Given the description of an element on the screen output the (x, y) to click on. 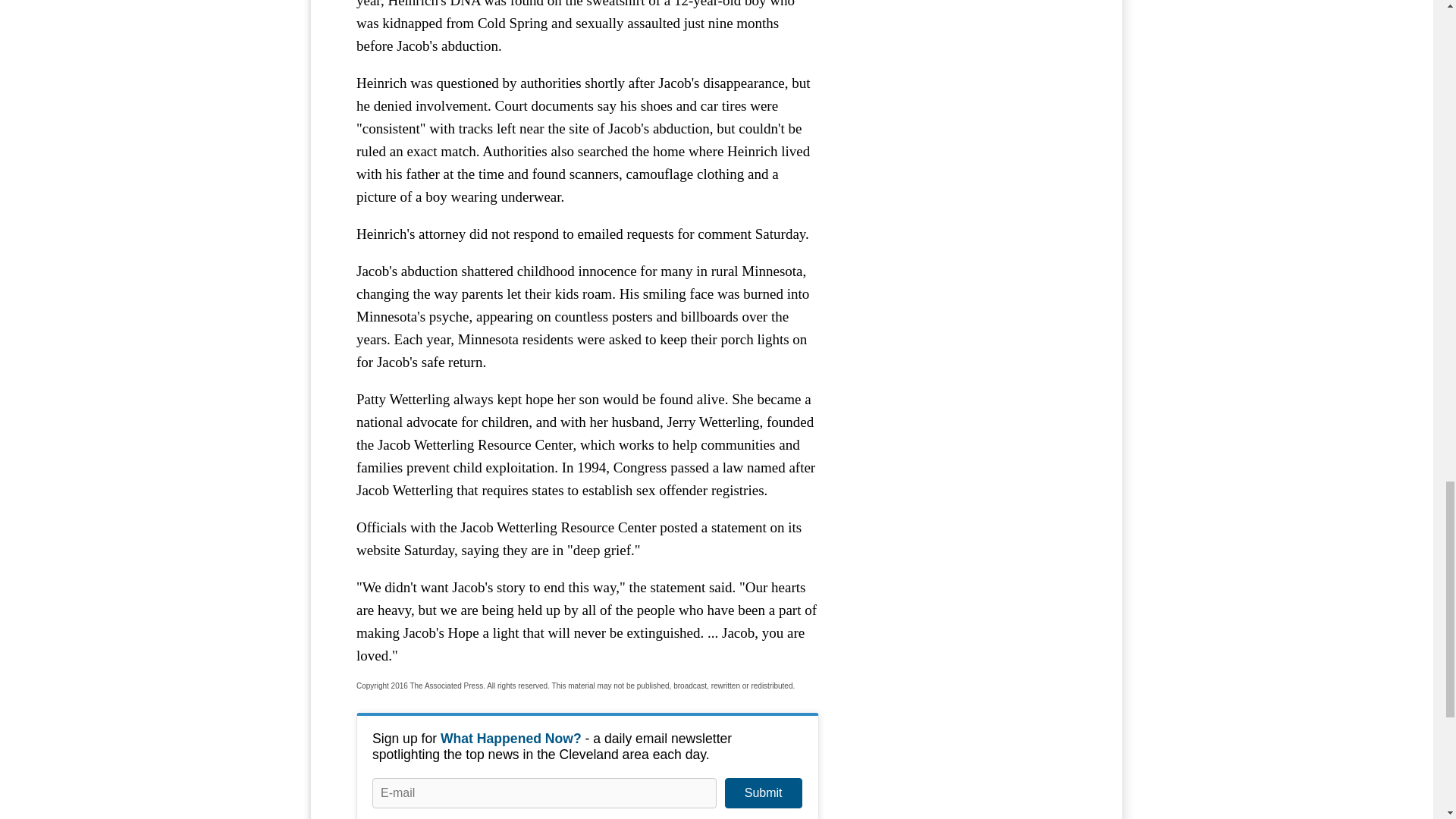
Submit (763, 793)
